Given the description of an element on the screen output the (x, y) to click on. 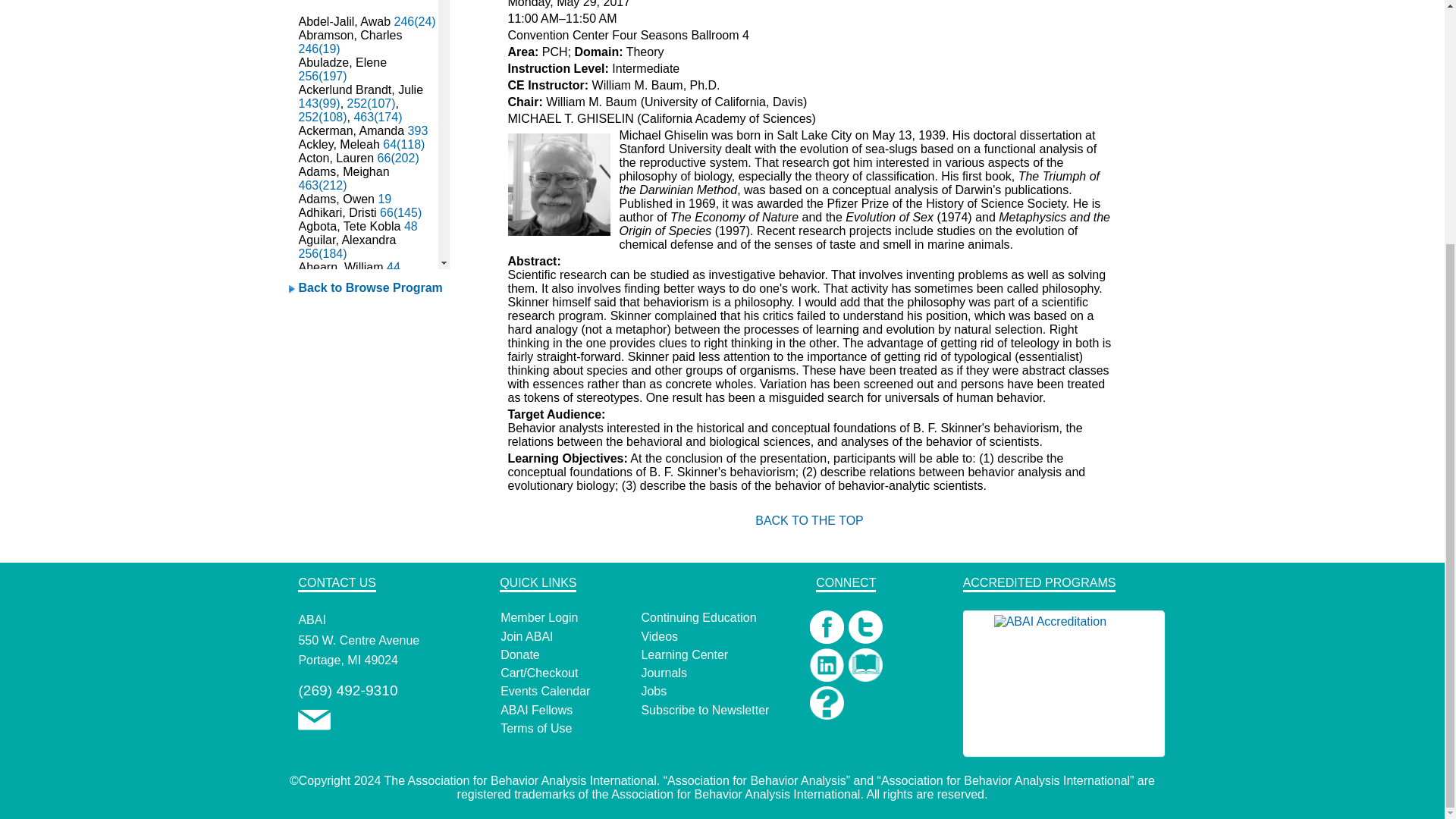
Portal Account Login (539, 617)
Contact Us (314, 720)
Contact us (314, 725)
Back to search (370, 287)
Call ABAI (347, 690)
